Given the description of an element on the screen output the (x, y) to click on. 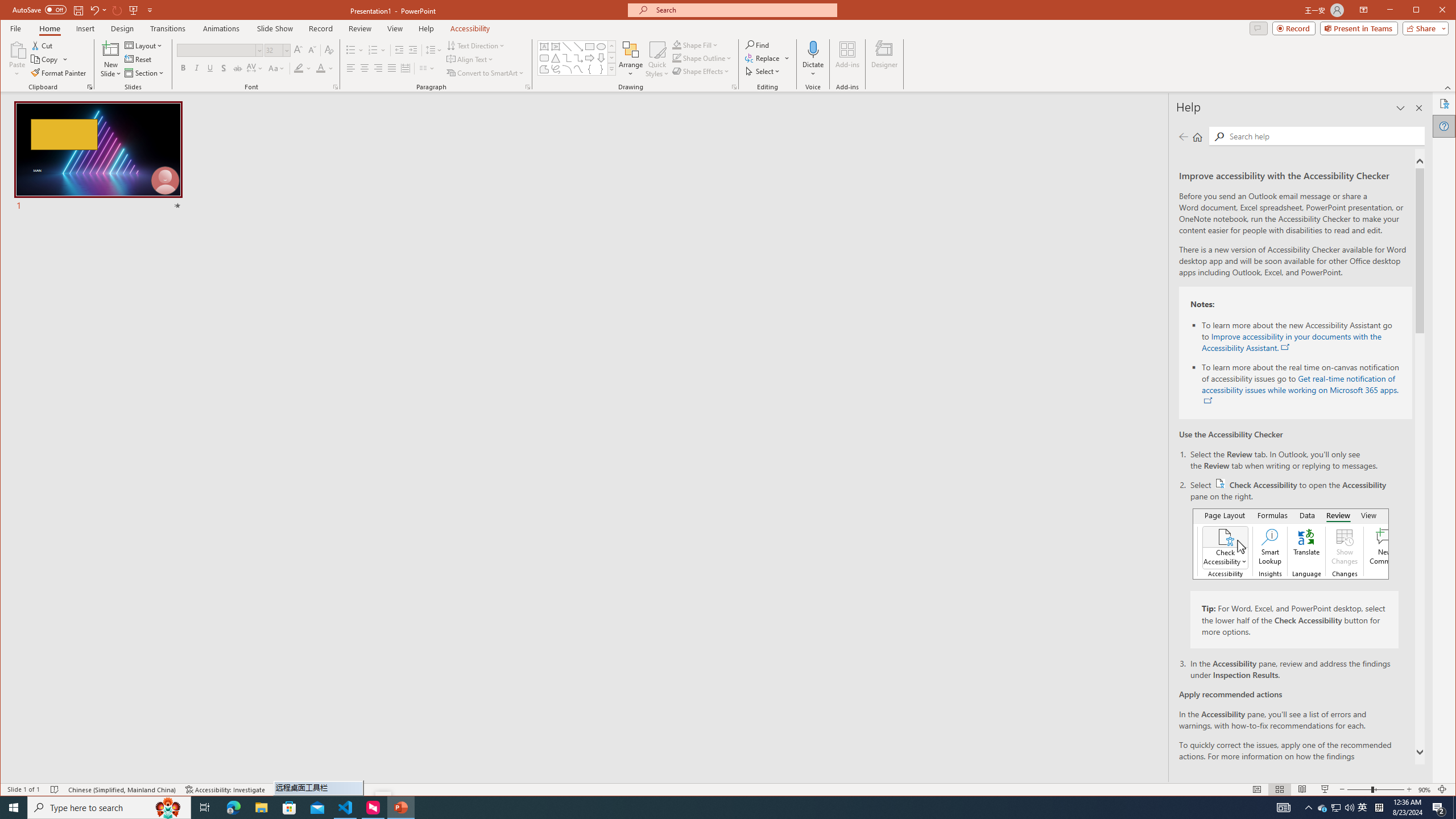
Previous page (1183, 136)
Rules for the Accessibility Checker (1310, 767)
